Given the description of an element on the screen output the (x, y) to click on. 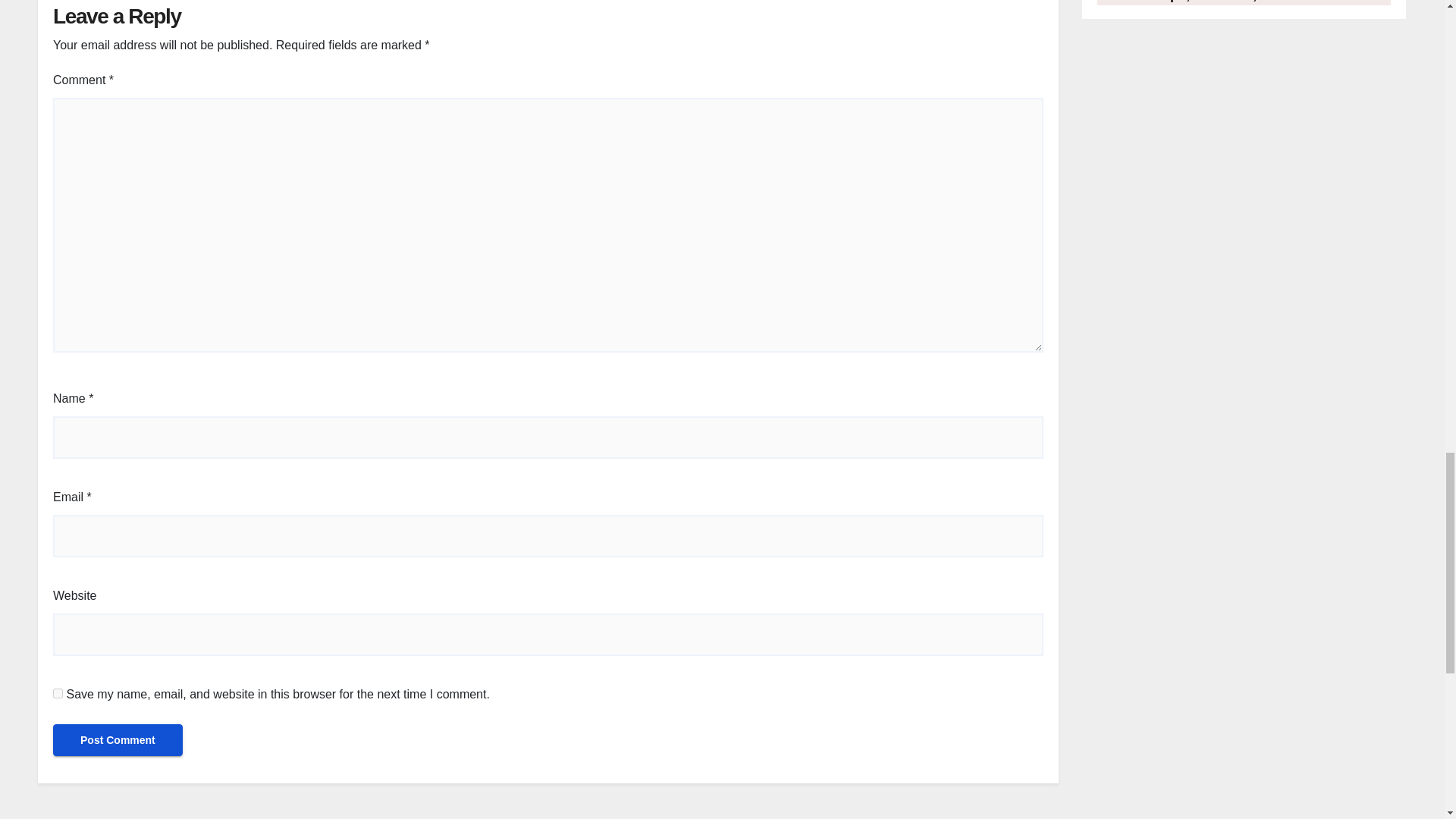
Post Comment (117, 739)
yes (57, 693)
